Given the description of an element on the screen output the (x, y) to click on. 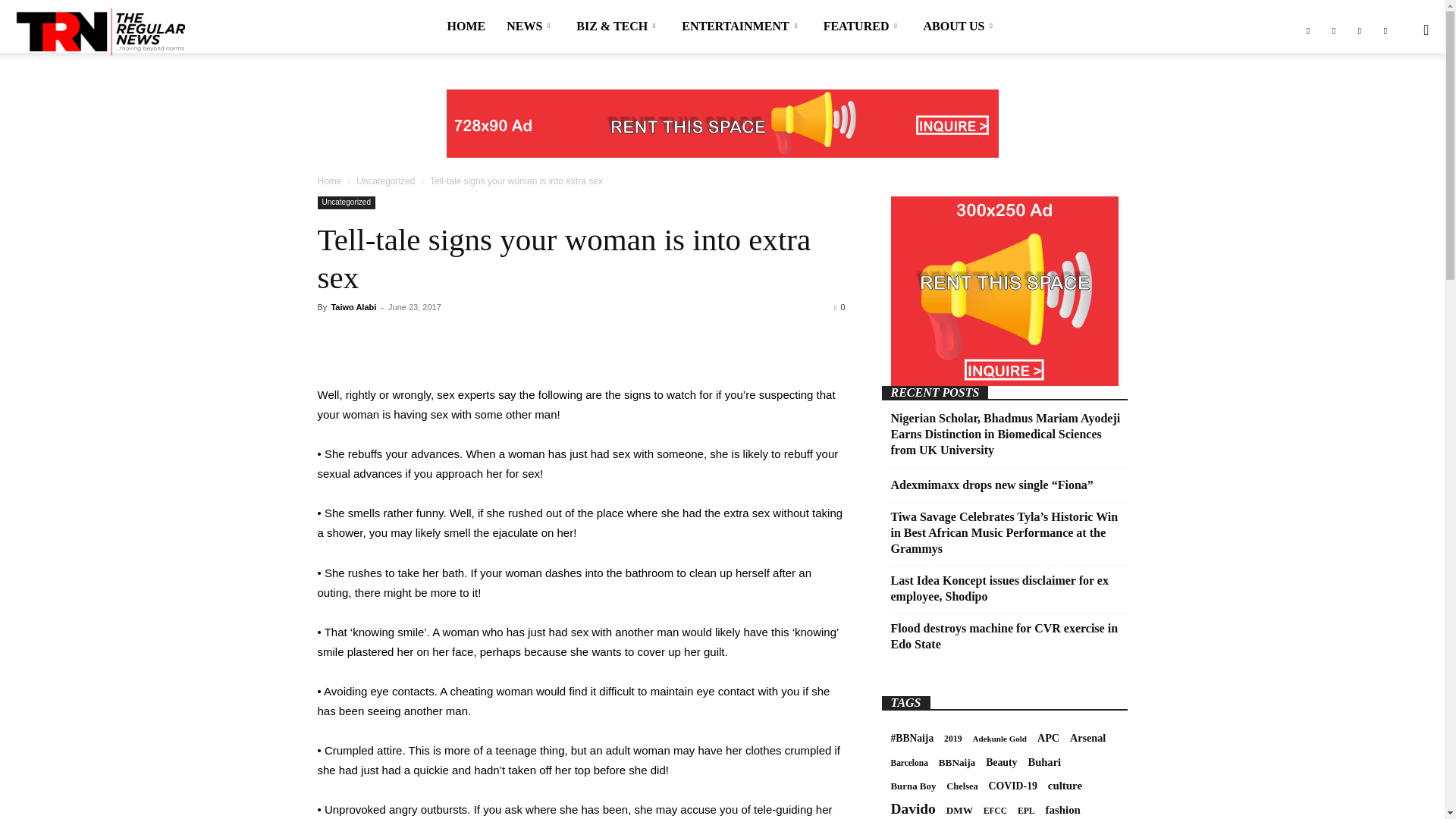
Search (1395, 102)
TRN (99, 30)
The Regular News (99, 30)
